Given the description of an element on the screen output the (x, y) to click on. 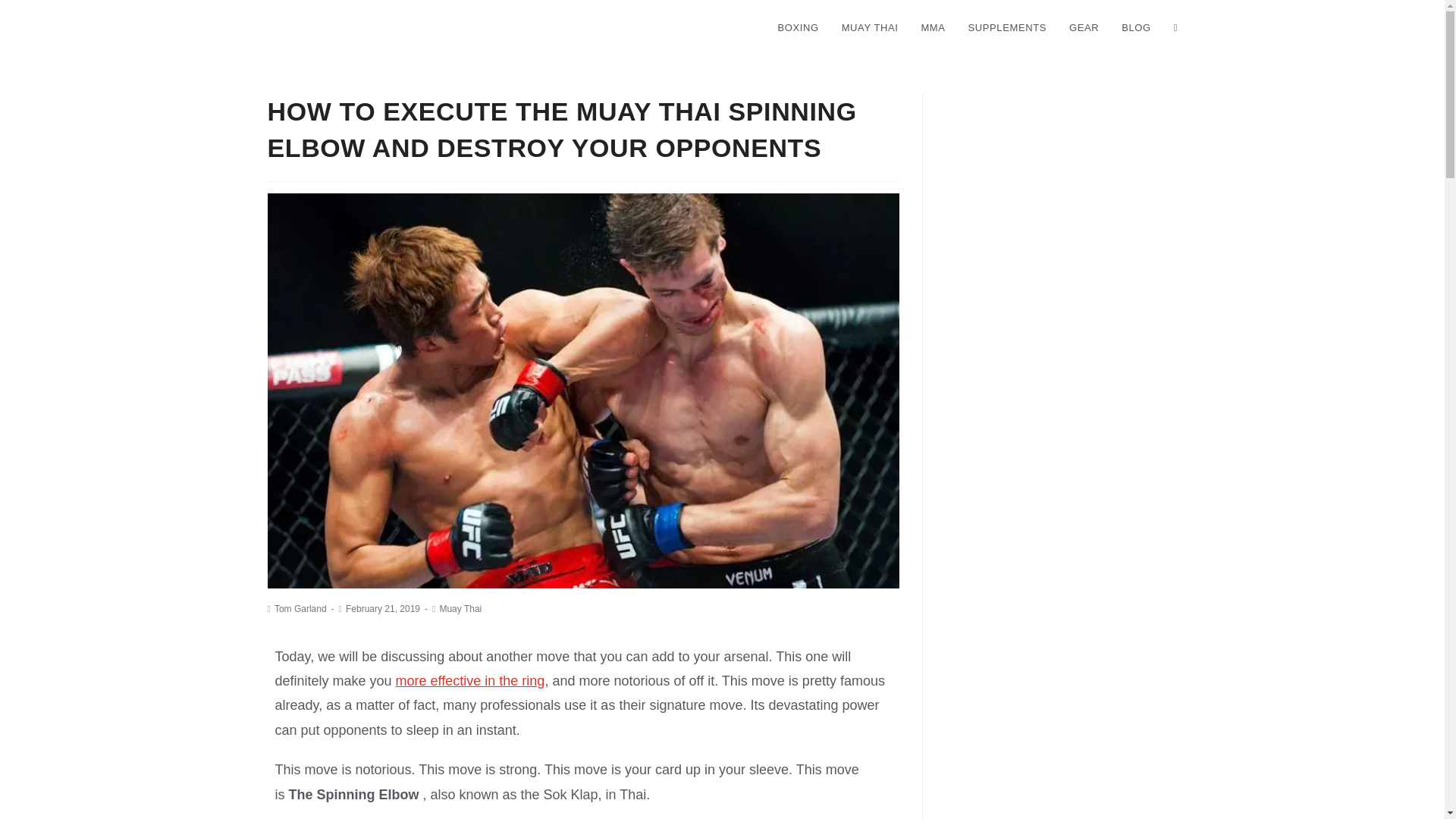
more effective in the ring (470, 680)
BOXING (797, 28)
Posts by Tom Garland (300, 608)
BLOG (1135, 28)
Tom Garland (300, 608)
MUAY THAI (869, 28)
SUPPLEMENTS (1007, 28)
Muay Thai (460, 608)
GEAR (1083, 28)
